Given the description of an element on the screen output the (x, y) to click on. 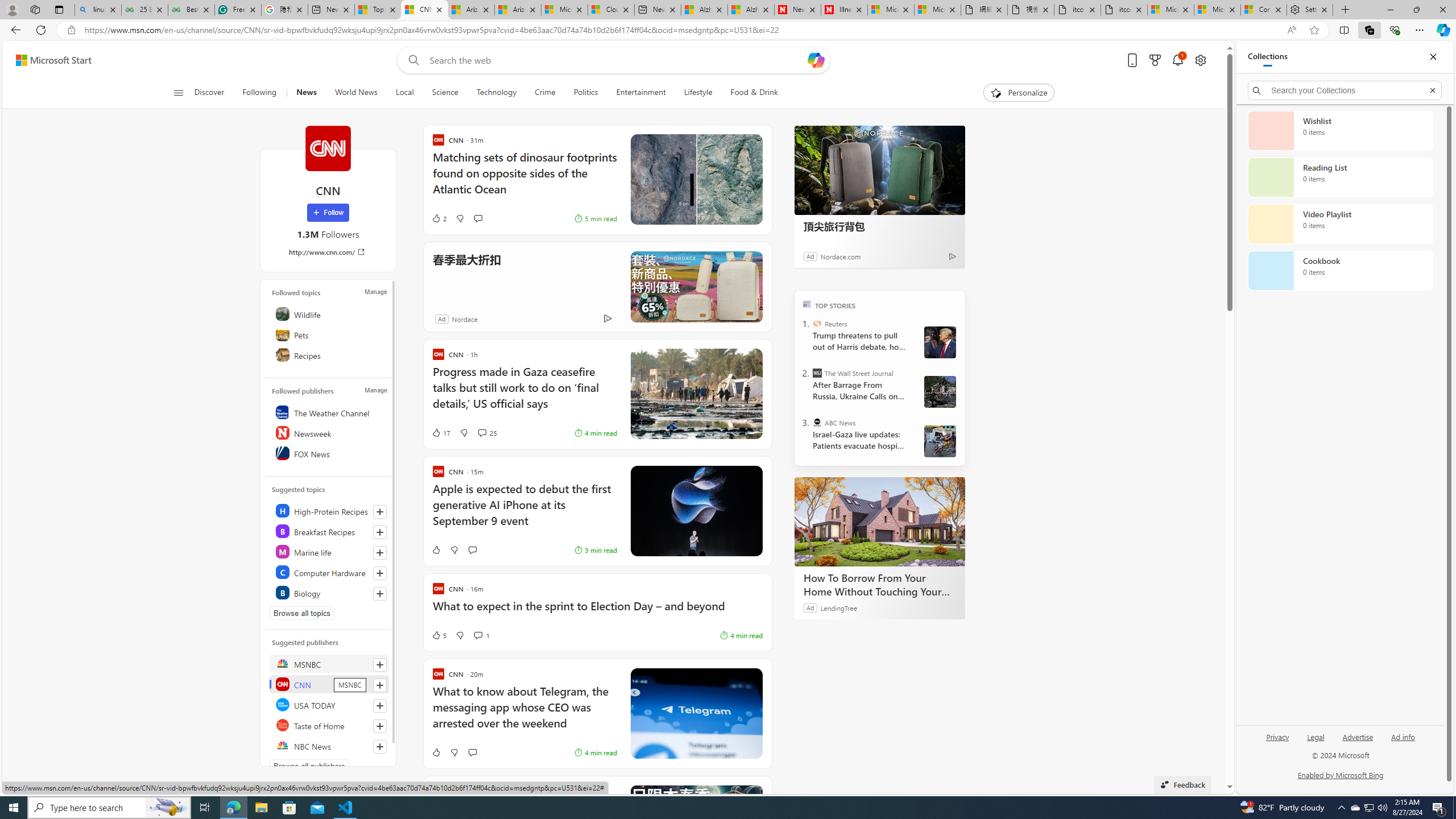
Follow this topic (379, 593)
linux basic - Search (97, 9)
ABC News (816, 422)
